Given the description of an element on the screen output the (x, y) to click on. 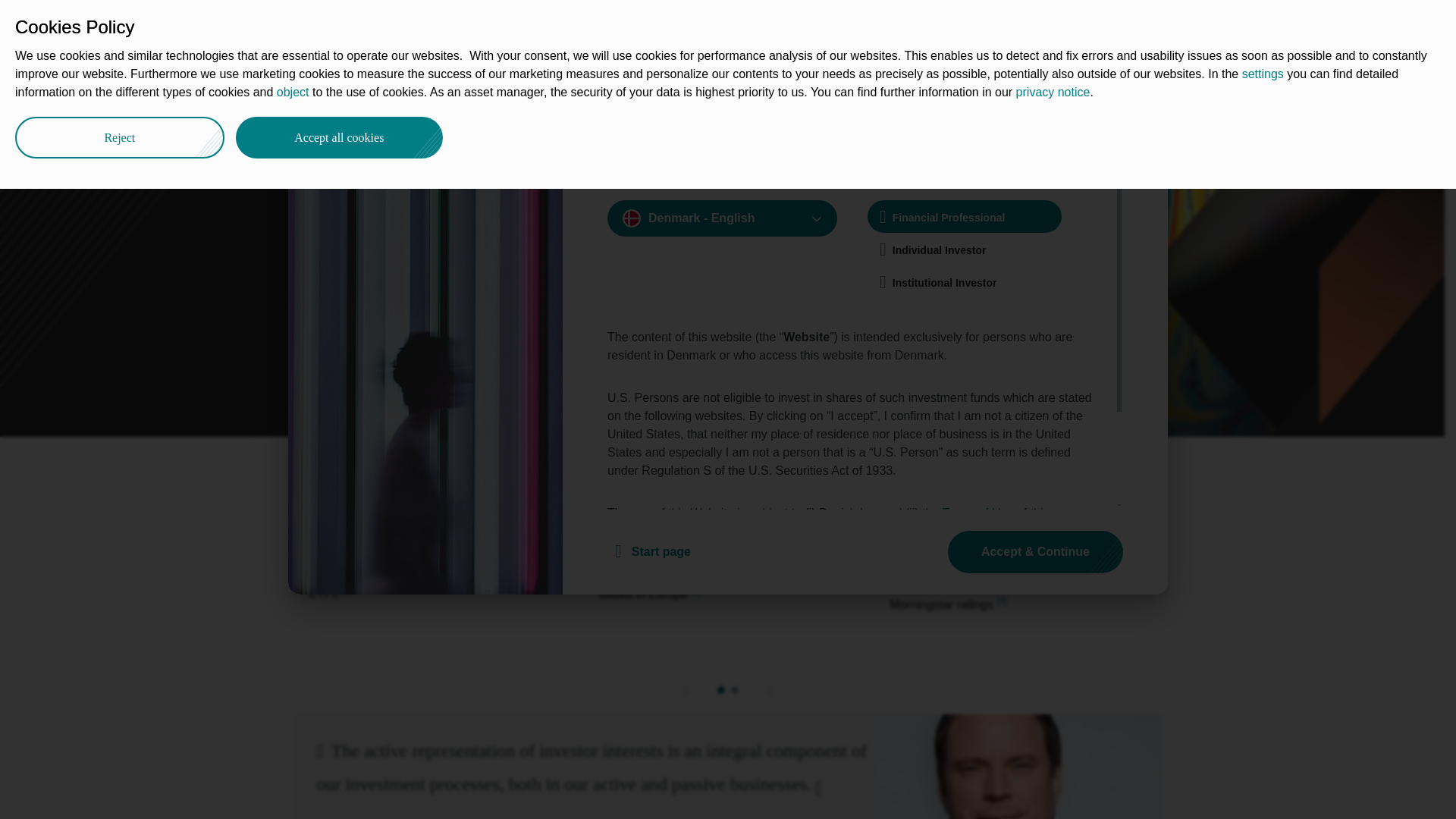
Home (307, 92)
Share (1140, 90)
Capabilities (370, 92)
Capabilities (501, 24)
DWS - Investors for a new now (307, 92)
Solutions (586, 24)
Capabilities (370, 92)
